Given the description of an element on the screen output the (x, y) to click on. 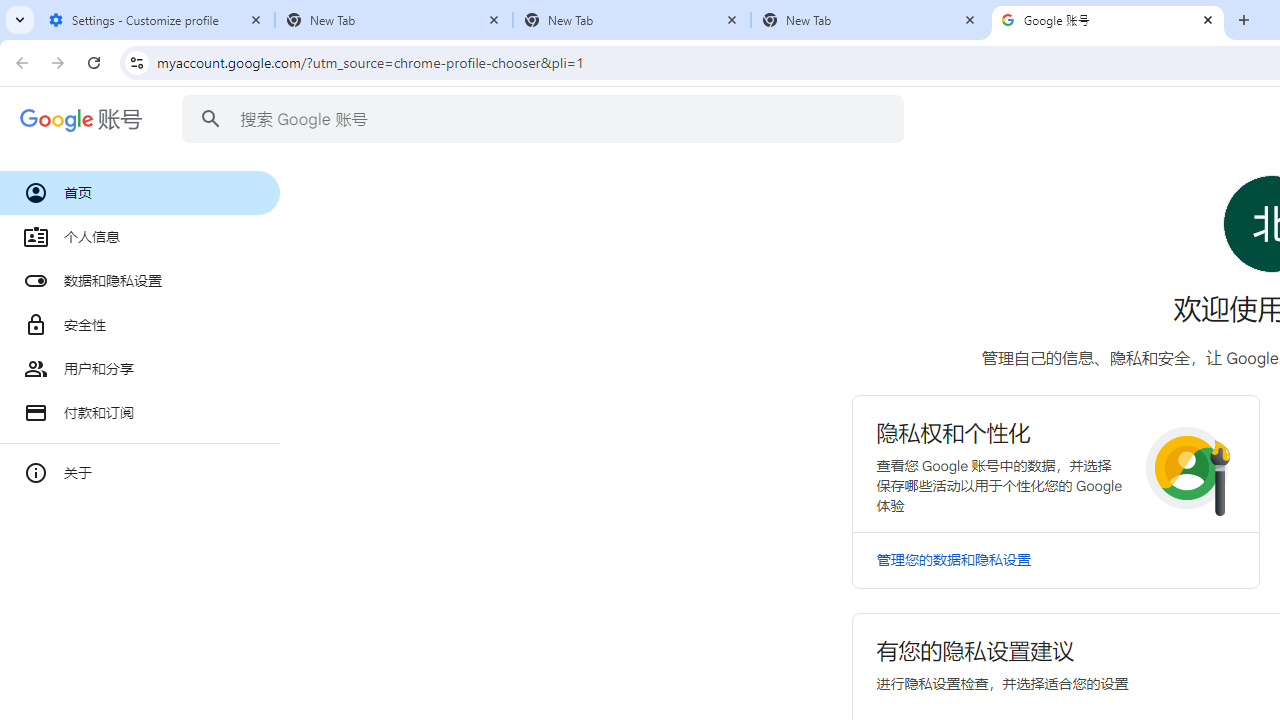
Forward (57, 62)
View site information (136, 62)
New Tab (1244, 20)
System (10, 11)
Close (1208, 19)
